Given the description of an element on the screen output the (x, y) to click on. 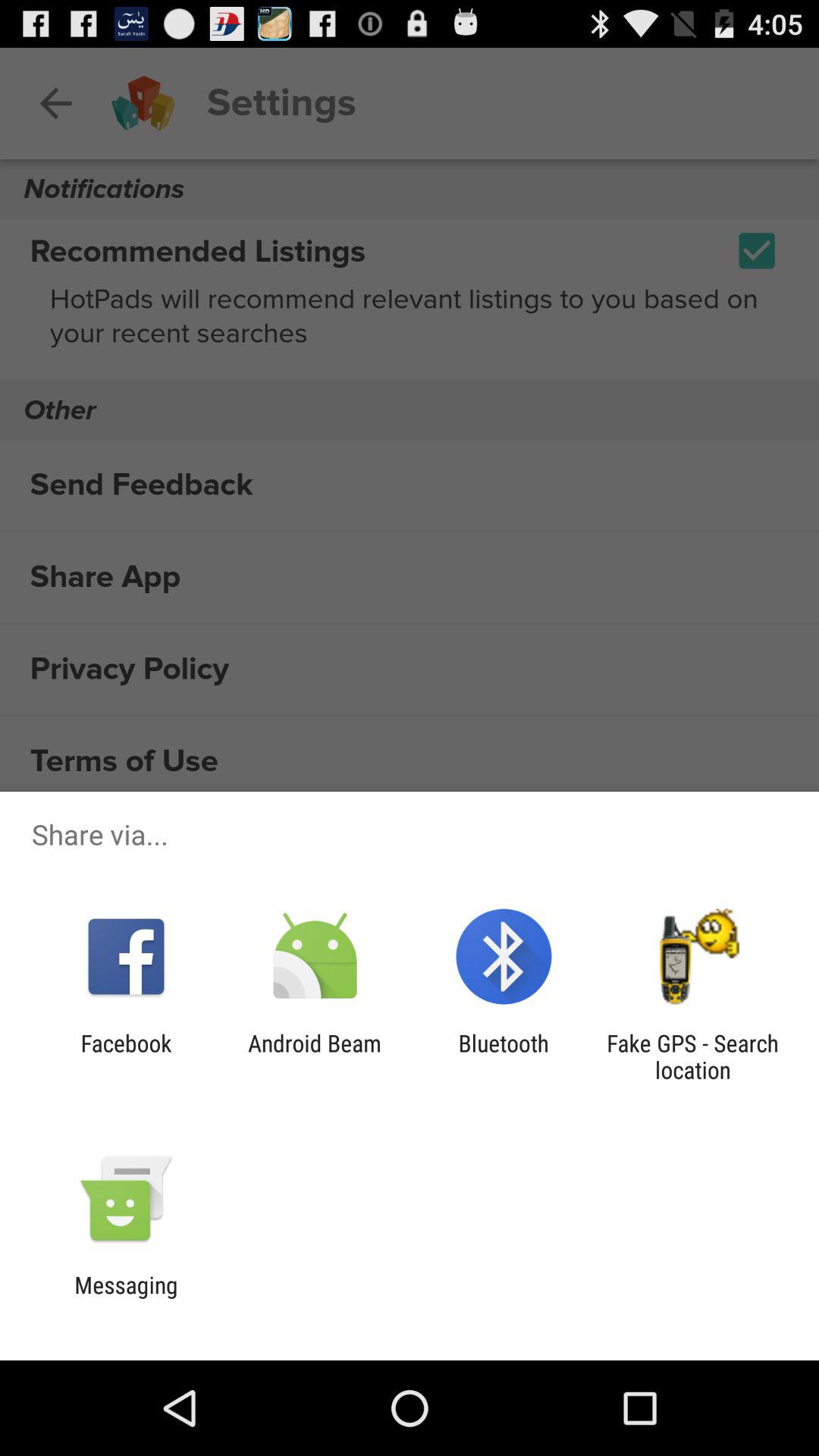
swipe until messaging (126, 1298)
